Given the description of an element on the screen output the (x, y) to click on. 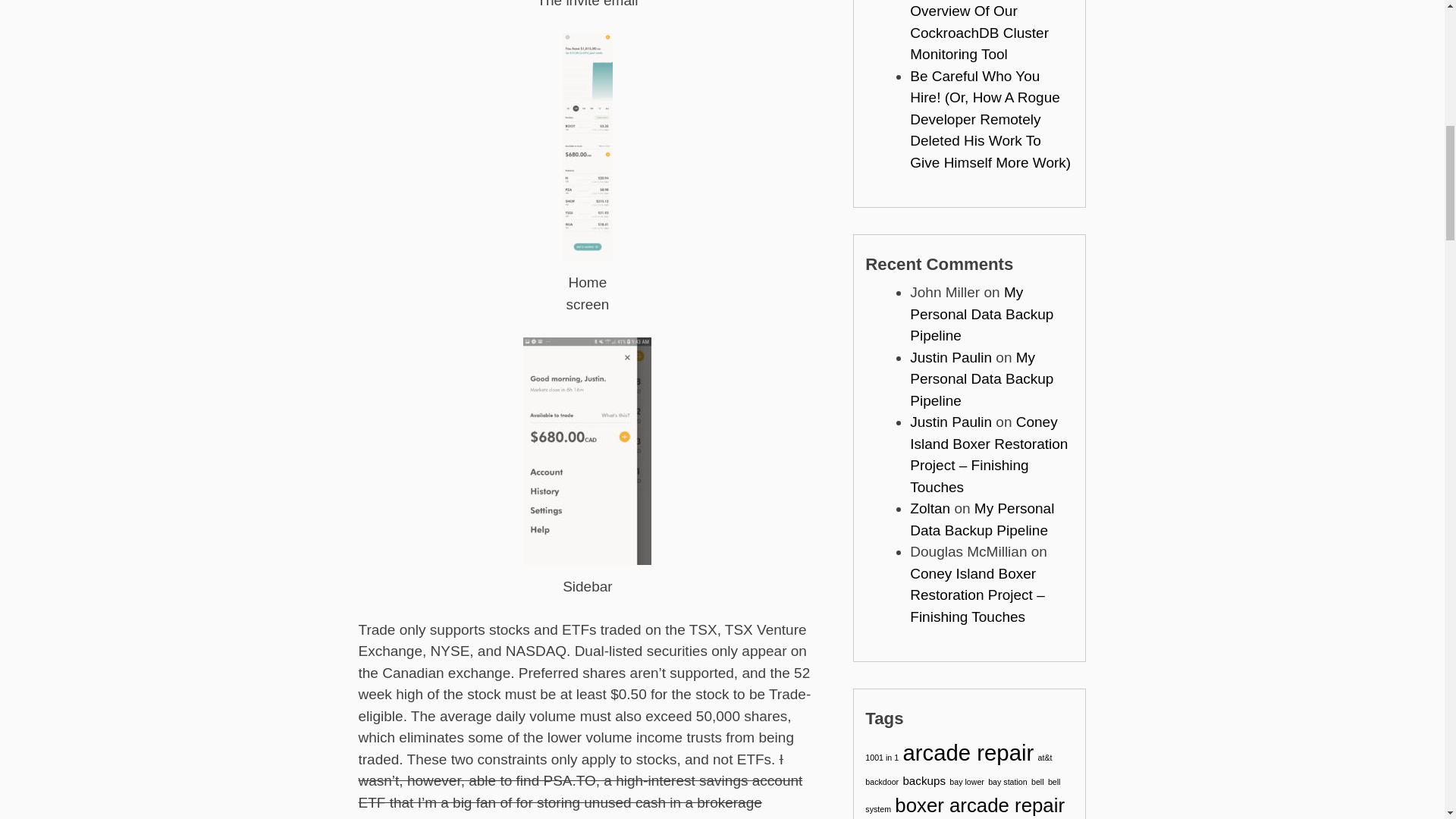
My Personal Data Backup Pipeline (981, 378)
My Personal Data Backup Pipeline (981, 313)
Justin Paulin (950, 421)
Justin Paulin (950, 357)
